Given the description of an element on the screen output the (x, y) to click on. 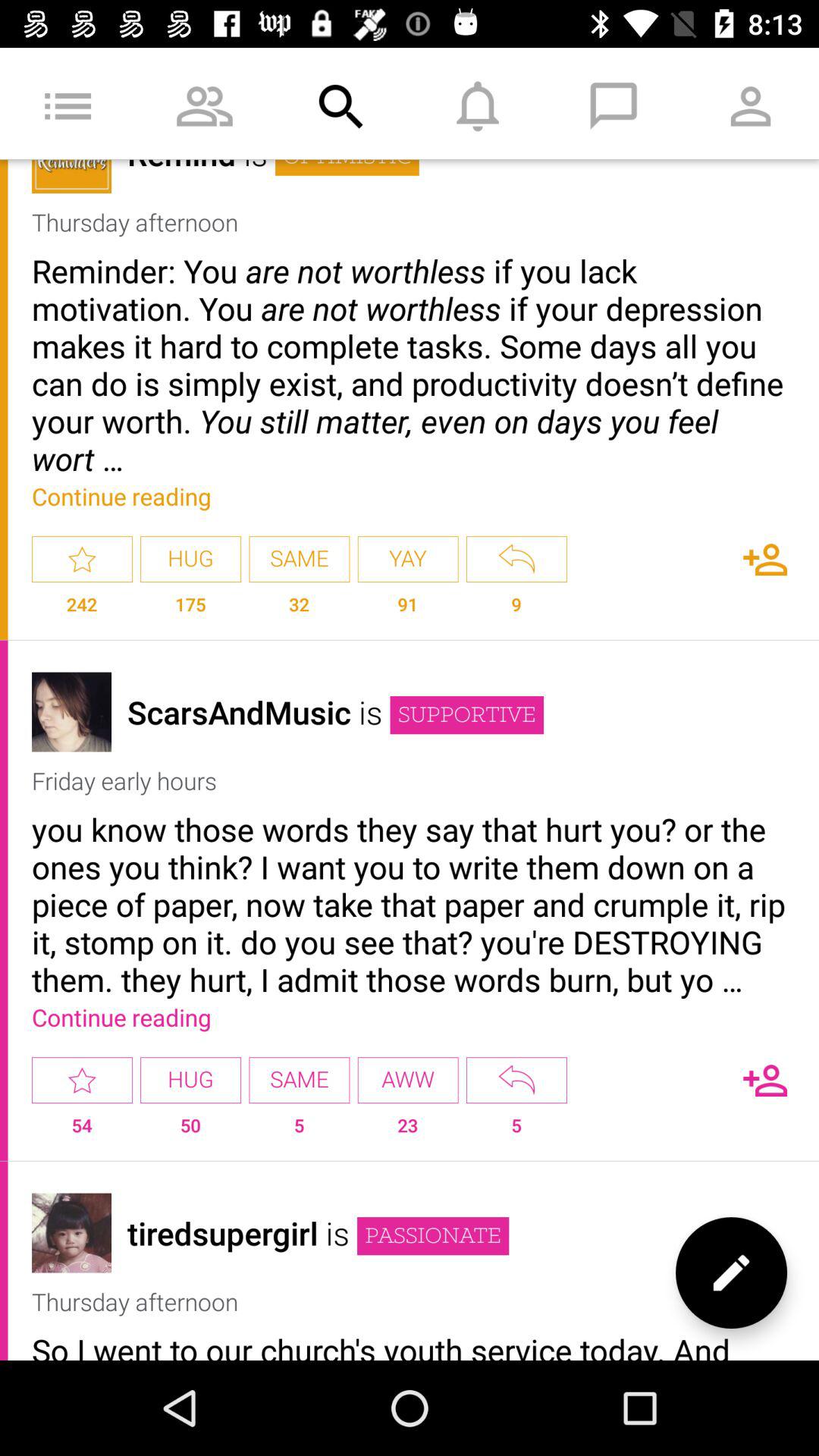
turn on item to the left of hug app (81, 1080)
